Given the description of an element on the screen output the (x, y) to click on. 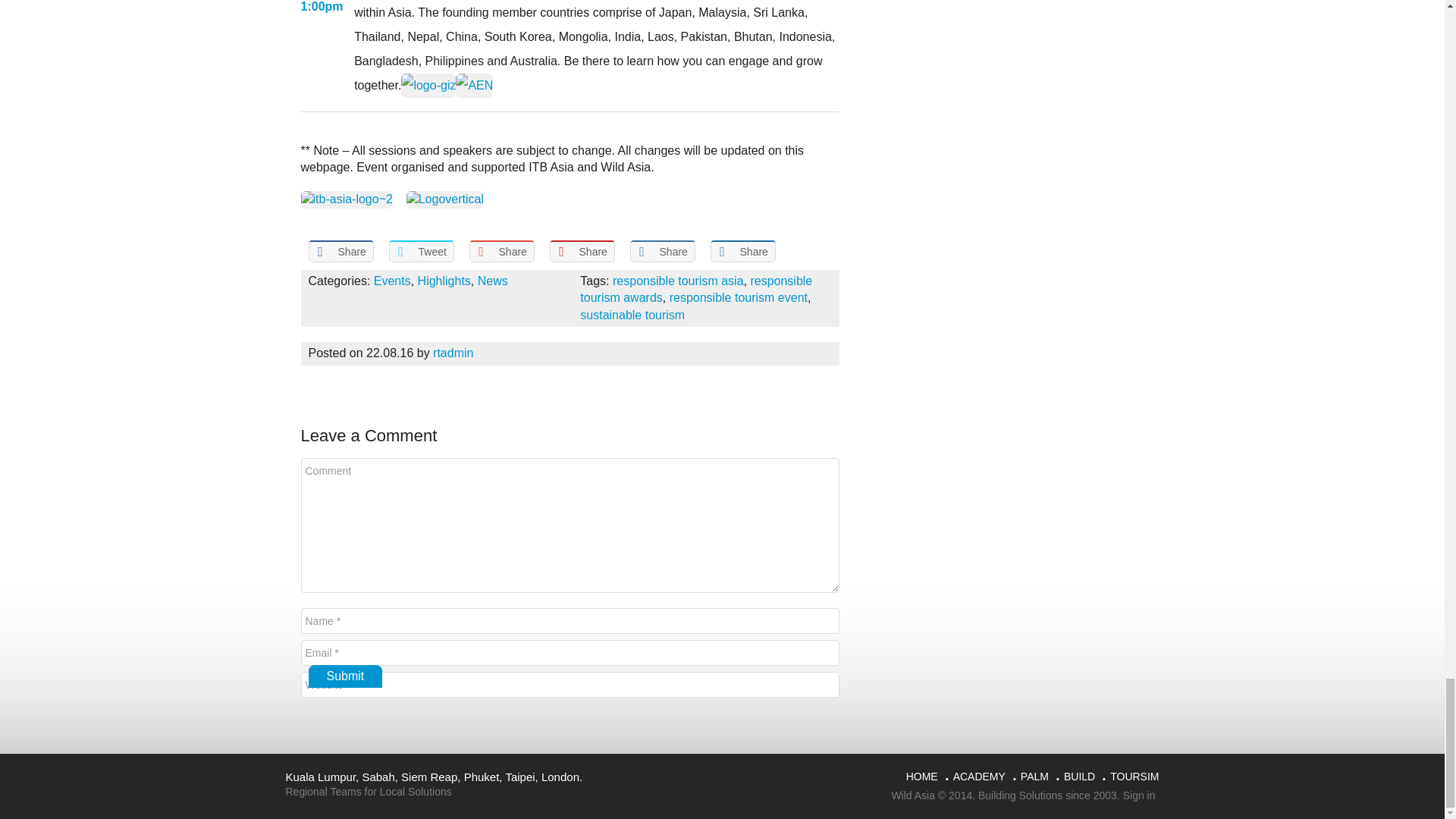
Share on Google Plus (501, 251)
Share on Digg (742, 251)
Share on Twitter (420, 251)
Submit (344, 676)
Share on Facebook (339, 251)
Share on Pinterest (581, 251)
Share on LinkedIn (661, 251)
